Given the description of an element on the screen output the (x, y) to click on. 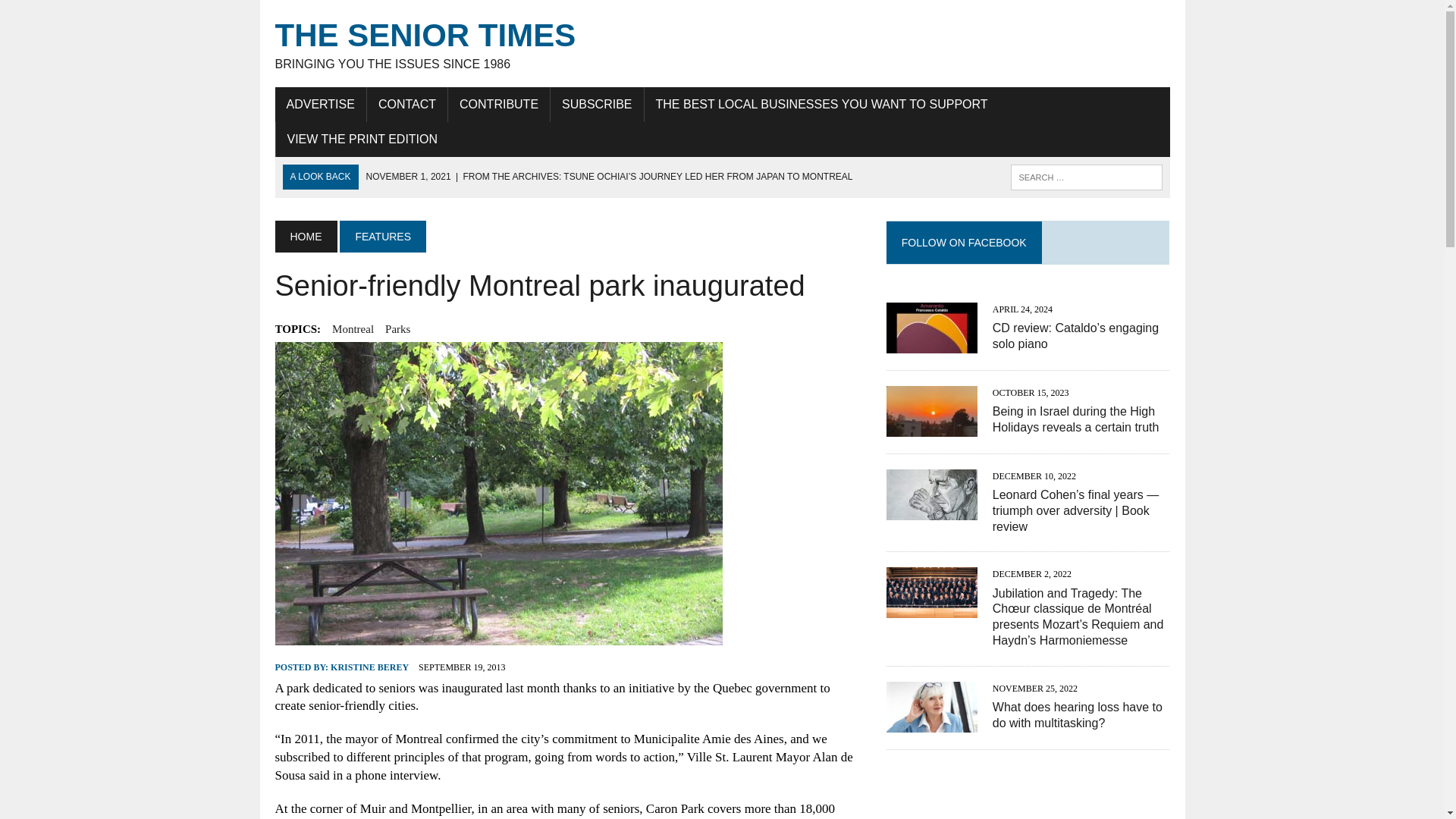
VIEW THE PRINT EDITION (362, 139)
THE BEST LOCAL BUSINESSES YOU WANT TO SUPPORT (821, 104)
FEATURES (382, 236)
HOME (305, 236)
Montreal (352, 329)
ADVERTISE (320, 104)
Search (75, 14)
SUBSCRIBE (596, 104)
KRISTINE BEREY (369, 666)
CONTRIBUTE (499, 104)
The Senior Times (722, 43)
Parks (722, 43)
CONTACT (397, 329)
